Given the description of an element on the screen output the (x, y) to click on. 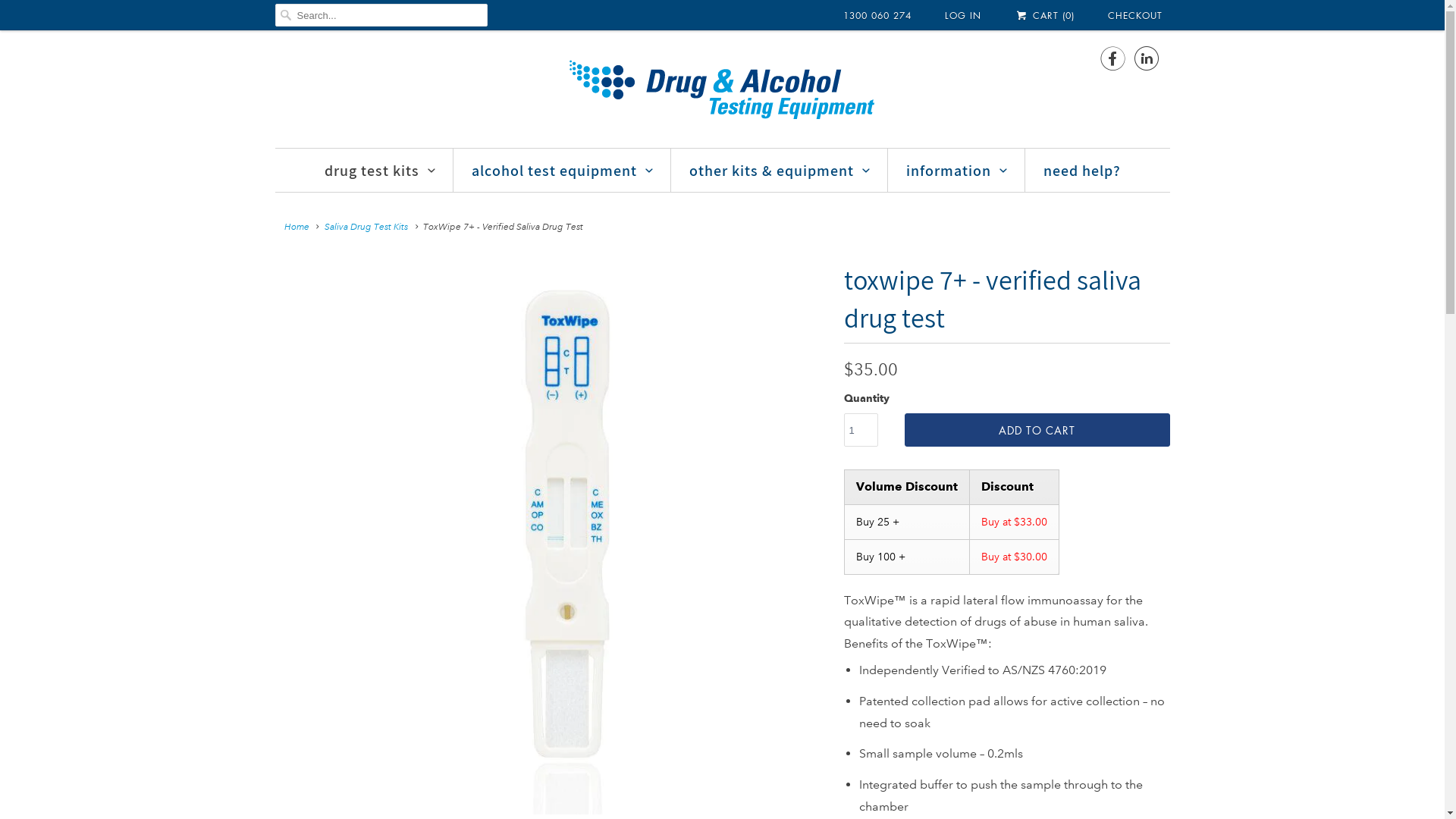
need help? Element type: text (1081, 170)
LOG IN Element type: text (962, 15)
drug test kits Element type: text (380, 170)
Saliva Drug Test Kits Element type: text (365, 226)
1300 060 274 Element type: text (877, 15)
alcohol test equipment Element type: text (563, 170)
other kits & equipment Element type: text (779, 170)
information Element type: text (956, 170)
Home Element type: text (295, 226)
CHECKOUT Element type: text (1134, 15)
CART (0) Element type: text (1043, 14)
ADD TO CART Element type: text (1036, 429)
ToxWipe 7+ - Verified Saliva Drug Test Element type: hover (566, 537)
